Given the description of an element on the screen output the (x, y) to click on. 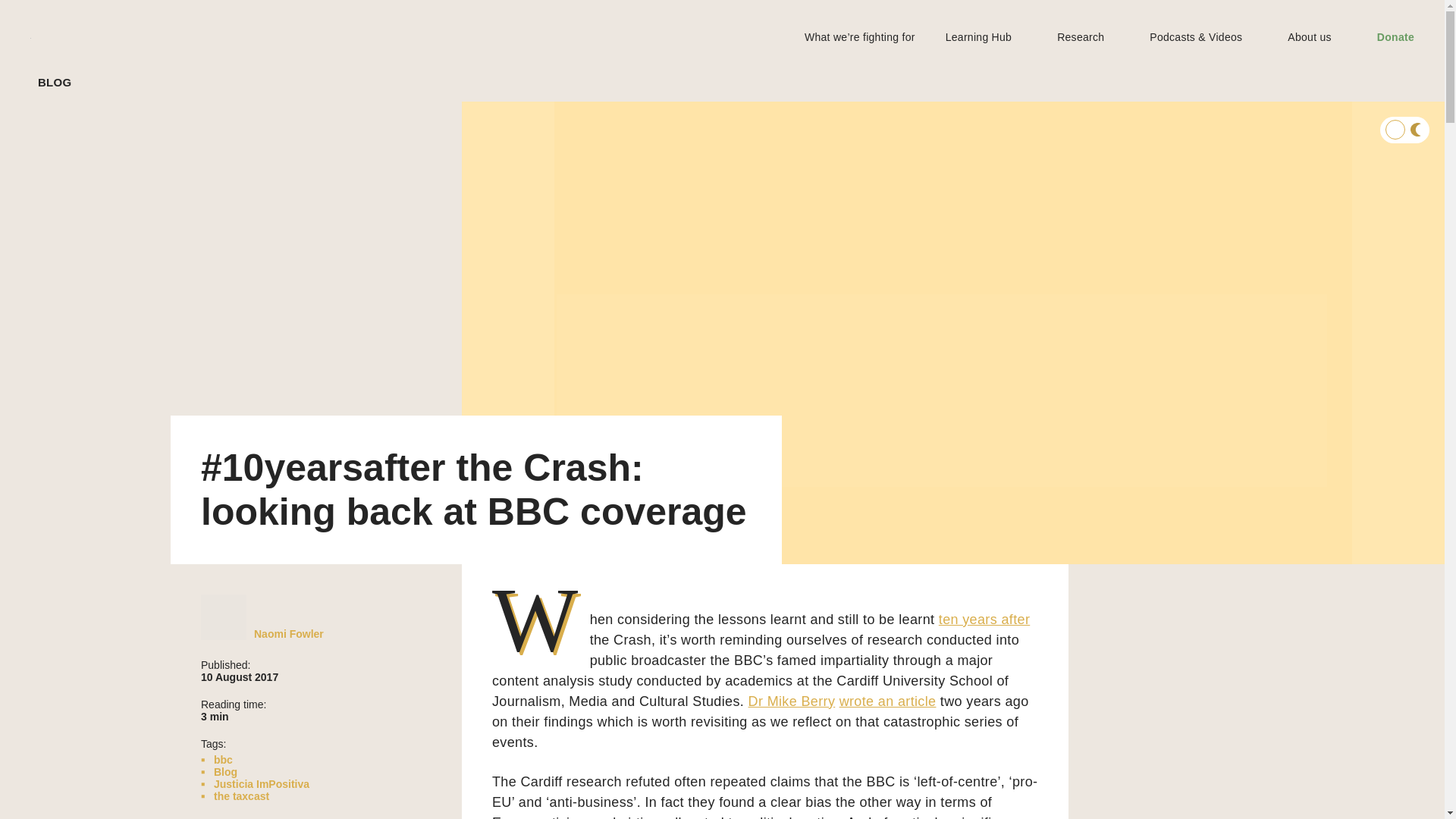
Our team (89, 269)
Global network (104, 283)
Events (83, 174)
Our history (94, 256)
Tax Justice Focus (109, 160)
Podcasts (87, 201)
Learning Hub (69, 51)
Our strategic framework (126, 242)
Research (58, 106)
CityVoicesMediaBias (291, 754)
